Given the description of an element on the screen output the (x, y) to click on. 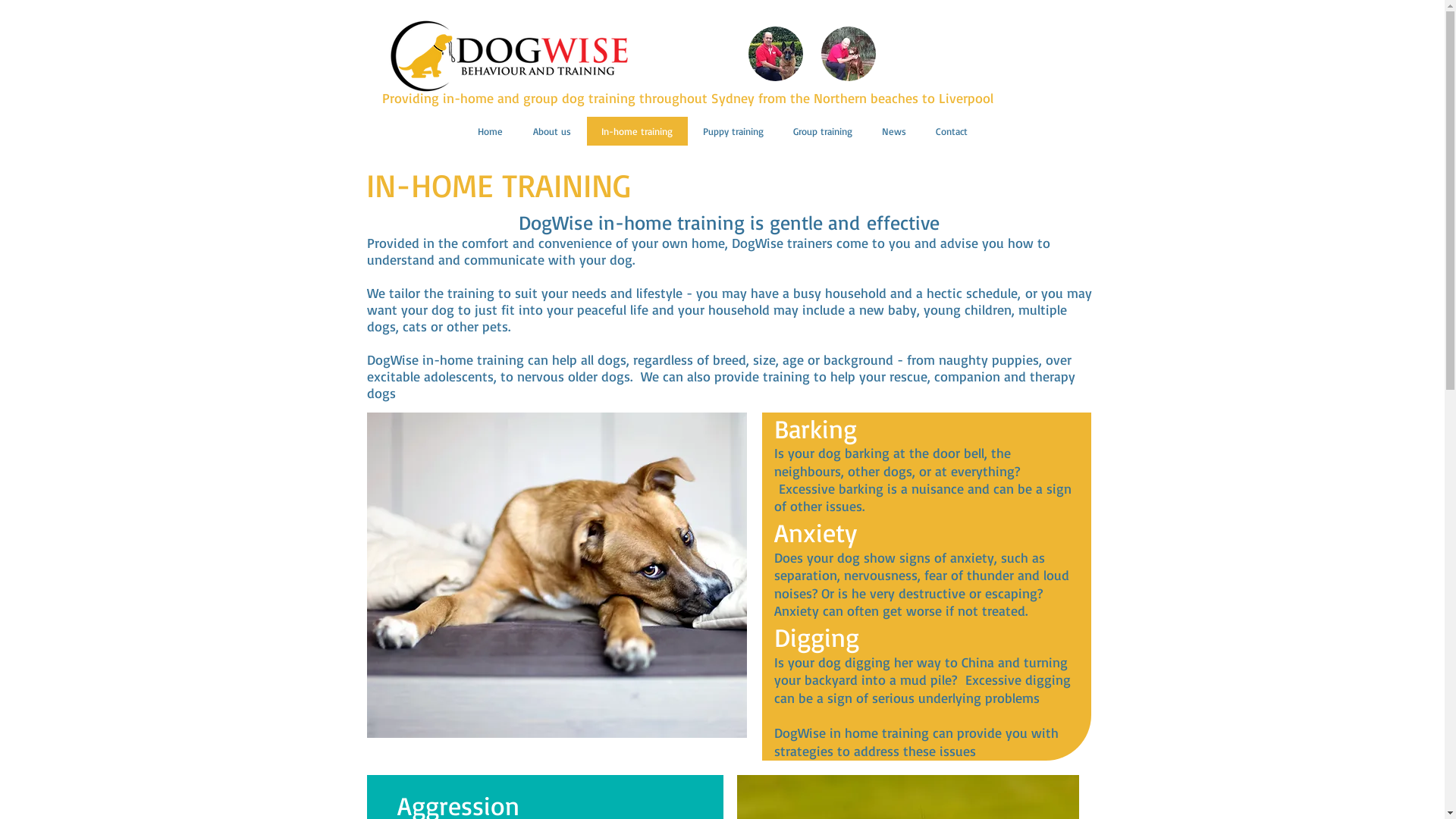
Group training Element type: text (822, 131)
Home Element type: text (489, 131)
Contact Element type: text (951, 131)
logo-01.png Element type: hover (508, 56)
About us Element type: text (551, 131)
In-home training Element type: text (636, 131)
News Element type: text (892, 131)
Puppy training Element type: text (732, 131)
